Given the description of an element on the screen output the (x, y) to click on. 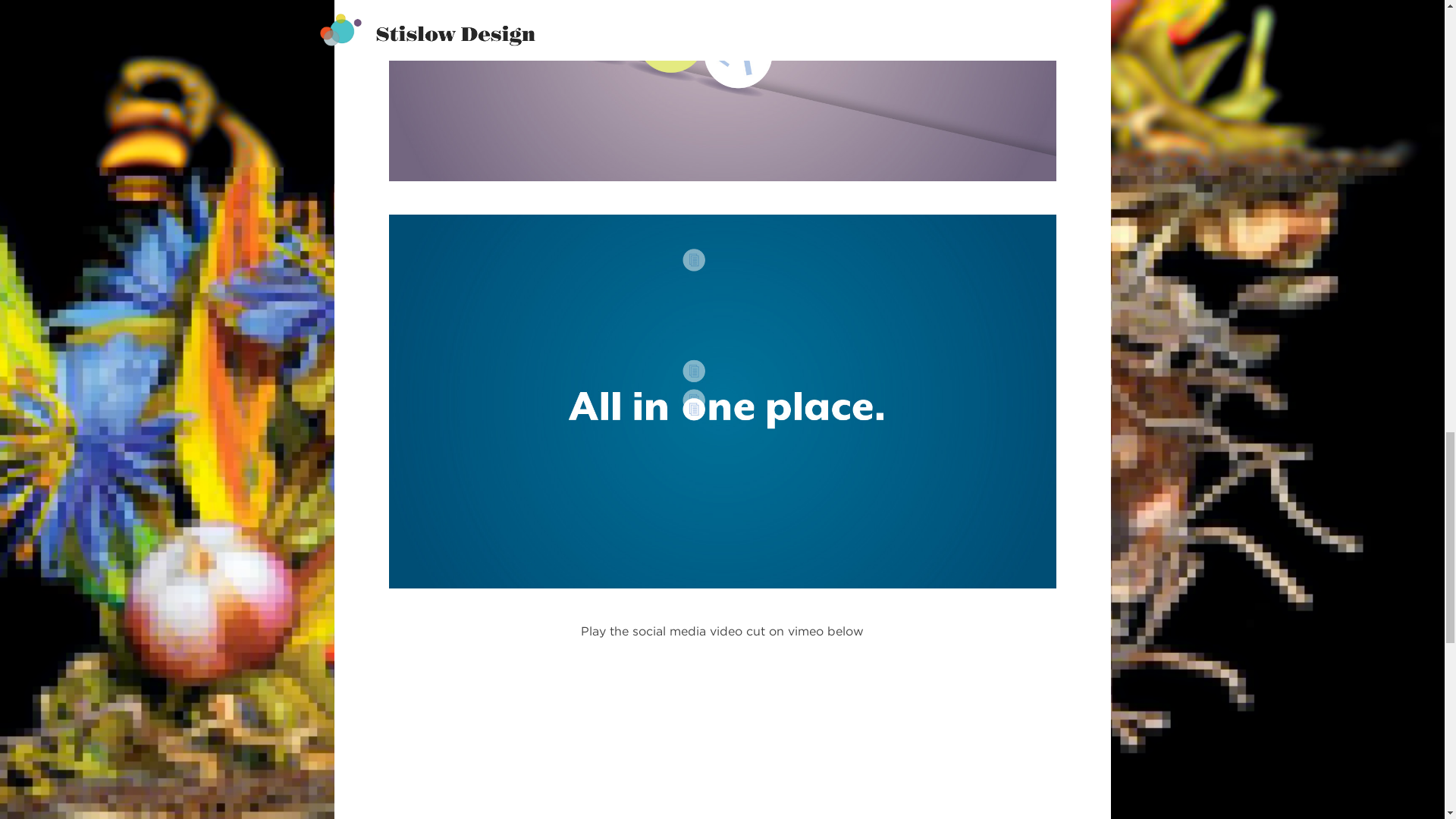
vimeo-player (721, 737)
